Given the description of an element on the screen output the (x, y) to click on. 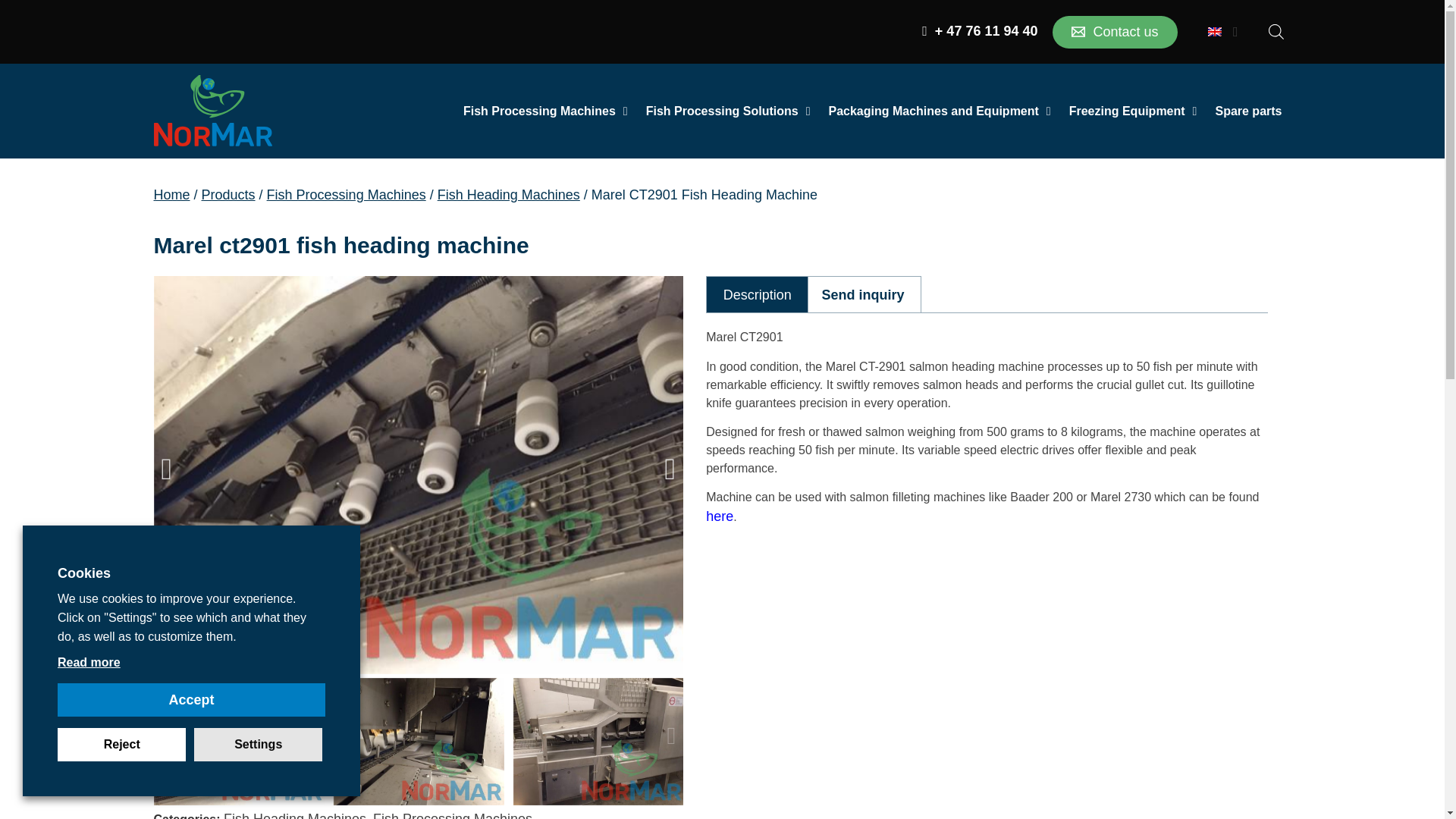
Packaging Machines and Equipment (938, 111)
Fish Processing Machines (545, 111)
Contact us (1114, 31)
Fish Processing Solutions (728, 111)
Freezing Equipment (1133, 111)
